Given the description of an element on the screen output the (x, y) to click on. 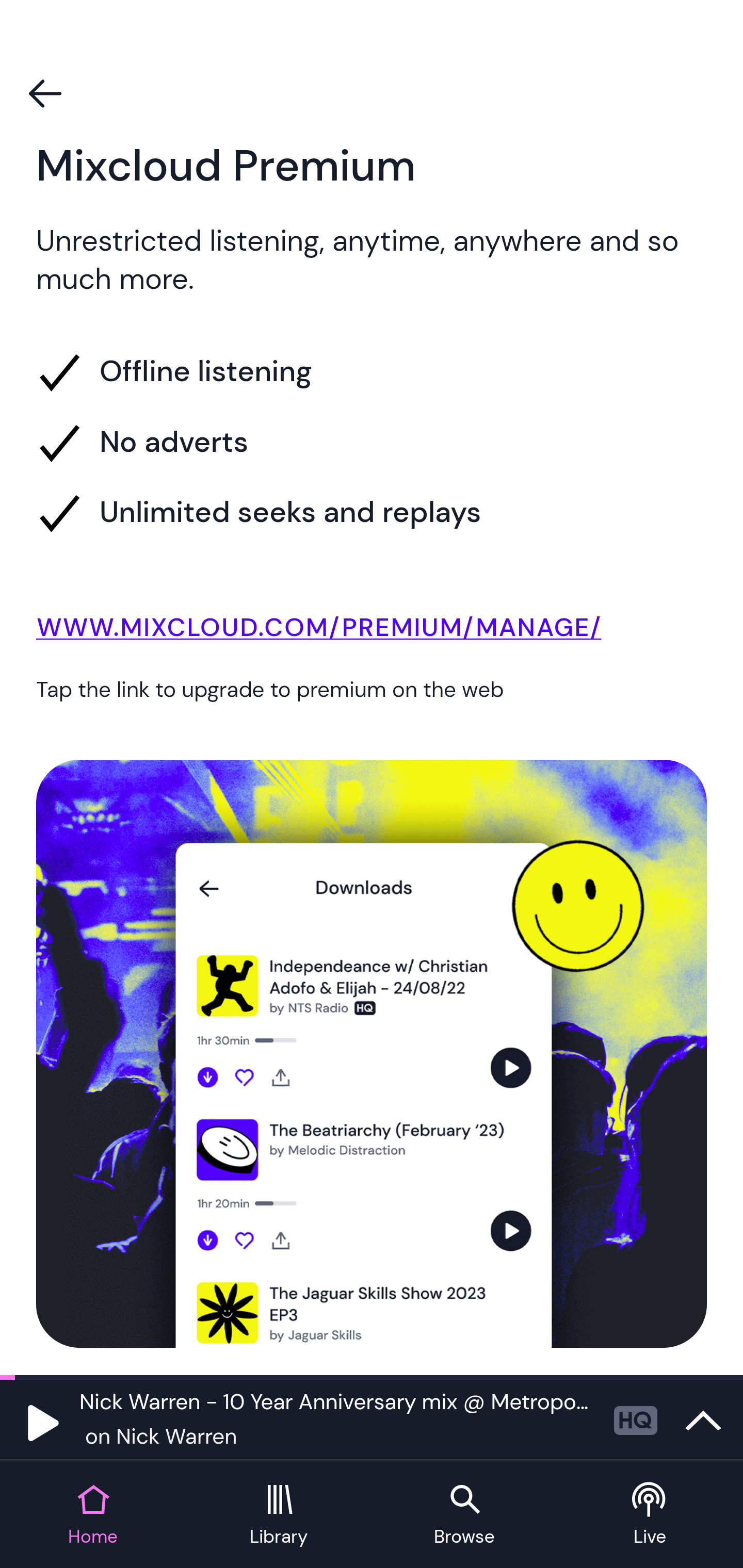
WWW.MIXCLOUD.COM/PREMIUM/MANAGE/ (371, 630)
Home tab Home (92, 1515)
Library tab Library (278, 1515)
Browse tab Browse (464, 1515)
Live tab Live (650, 1515)
